Given the description of an element on the screen output the (x, y) to click on. 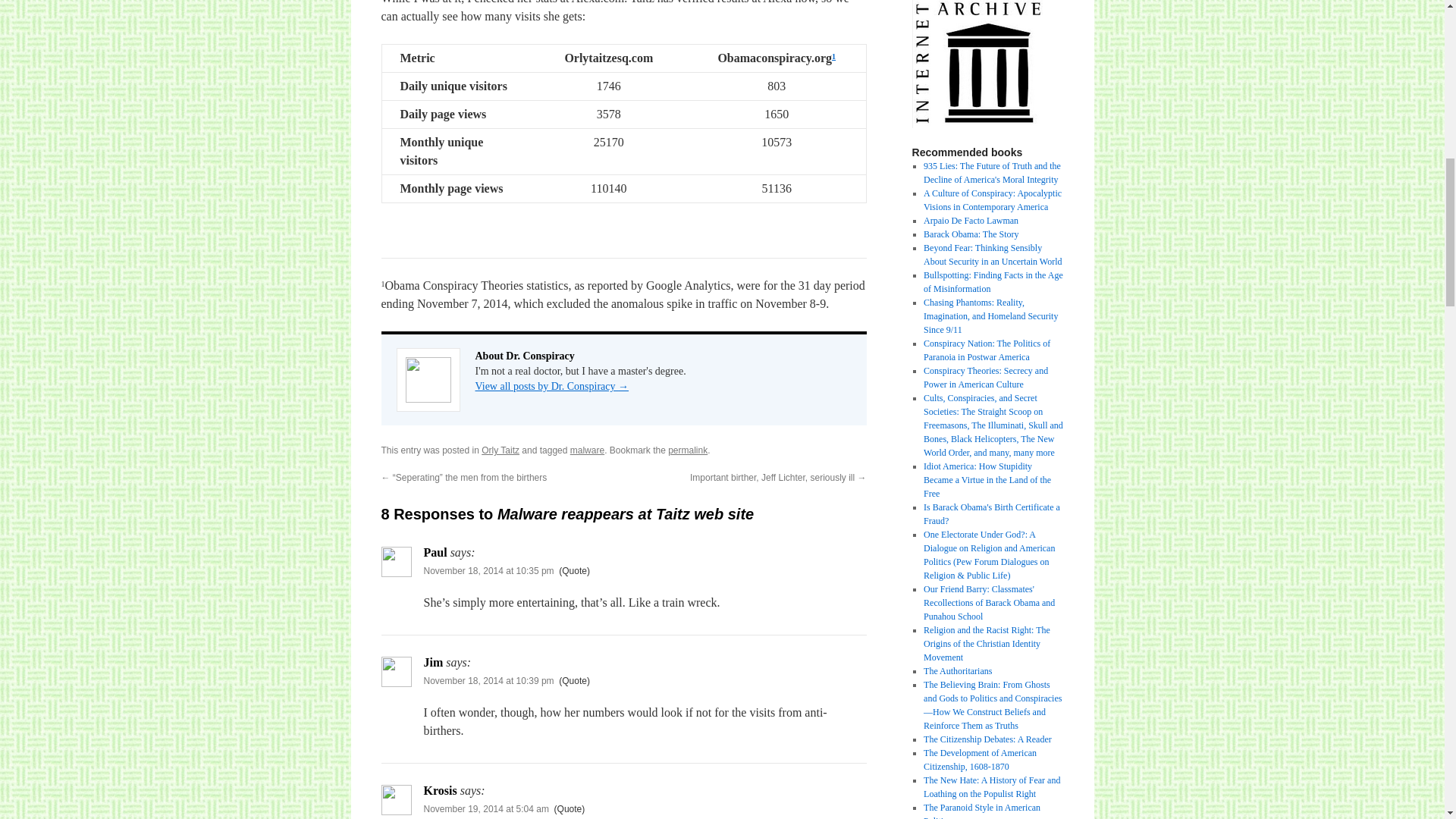
Orly Taitz (500, 450)
Permalink to Malware reappears at Taitz web site (687, 450)
by Charles Lewis (992, 172)
Click here or select text to quote comment (569, 808)
Click here or select text to quote comment (574, 570)
Click here or select text to quote comment (574, 680)
November 18, 2014 at 10:35 pm (488, 570)
November 18, 2014 at 10:39 pm (488, 680)
permalink (687, 450)
malware (587, 450)
